Given the description of an element on the screen output the (x, y) to click on. 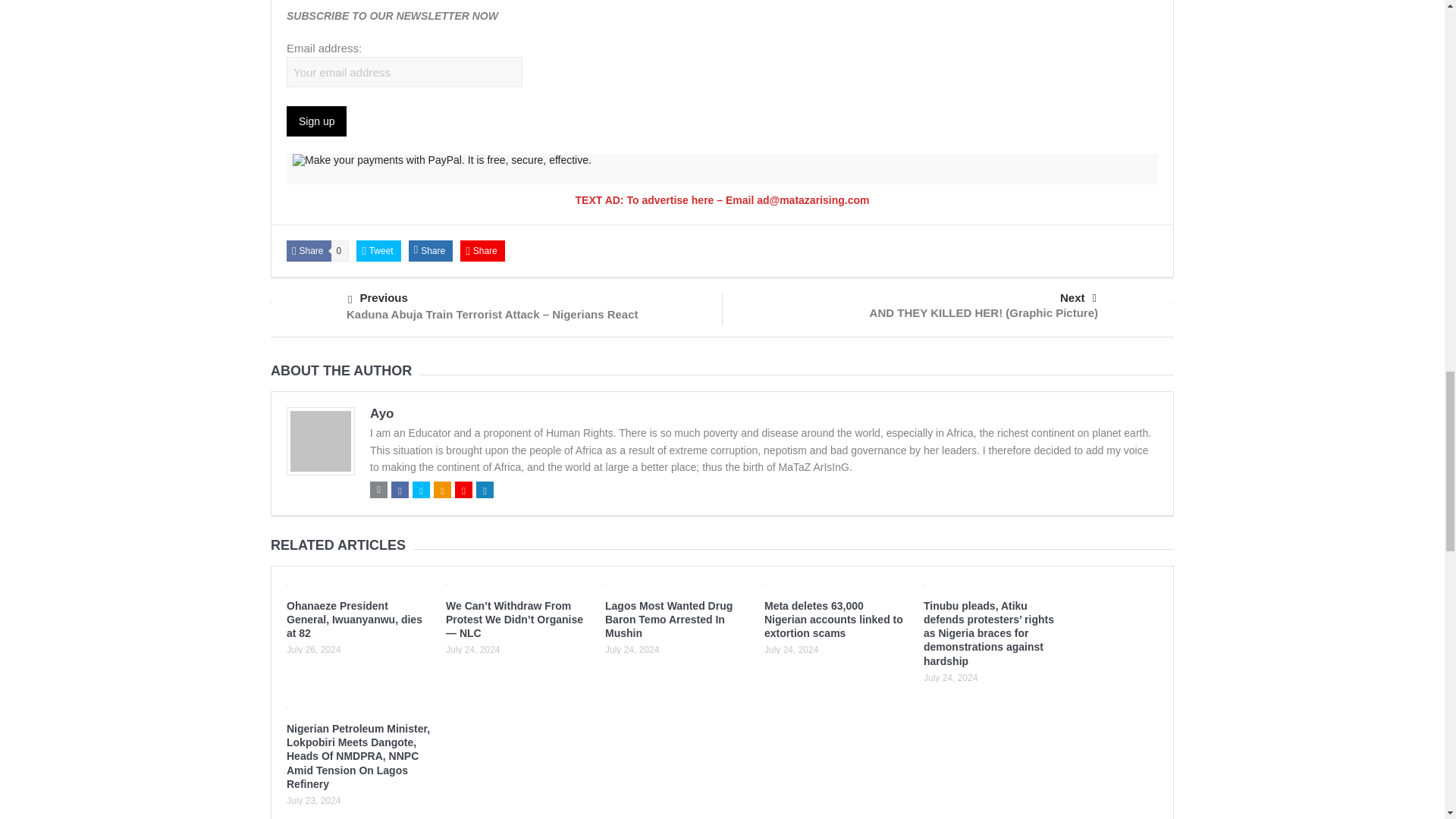
Sign up (316, 121)
